Given the description of an element on the screen output the (x, y) to click on. 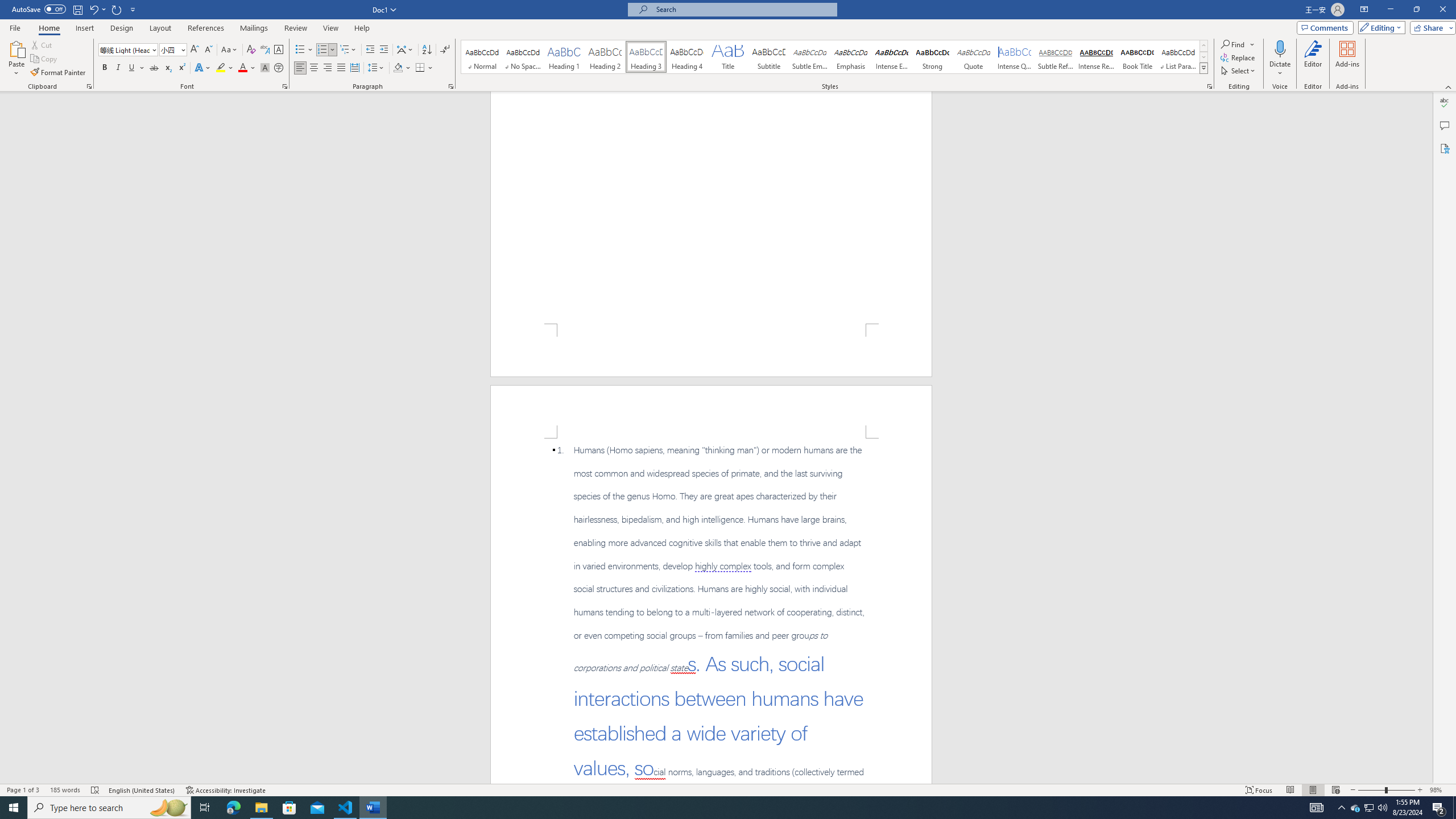
Undo Number Default (96, 9)
Heading 4 (686, 56)
Heading 3 (646, 56)
